Given the description of an element on the screen output the (x, y) to click on. 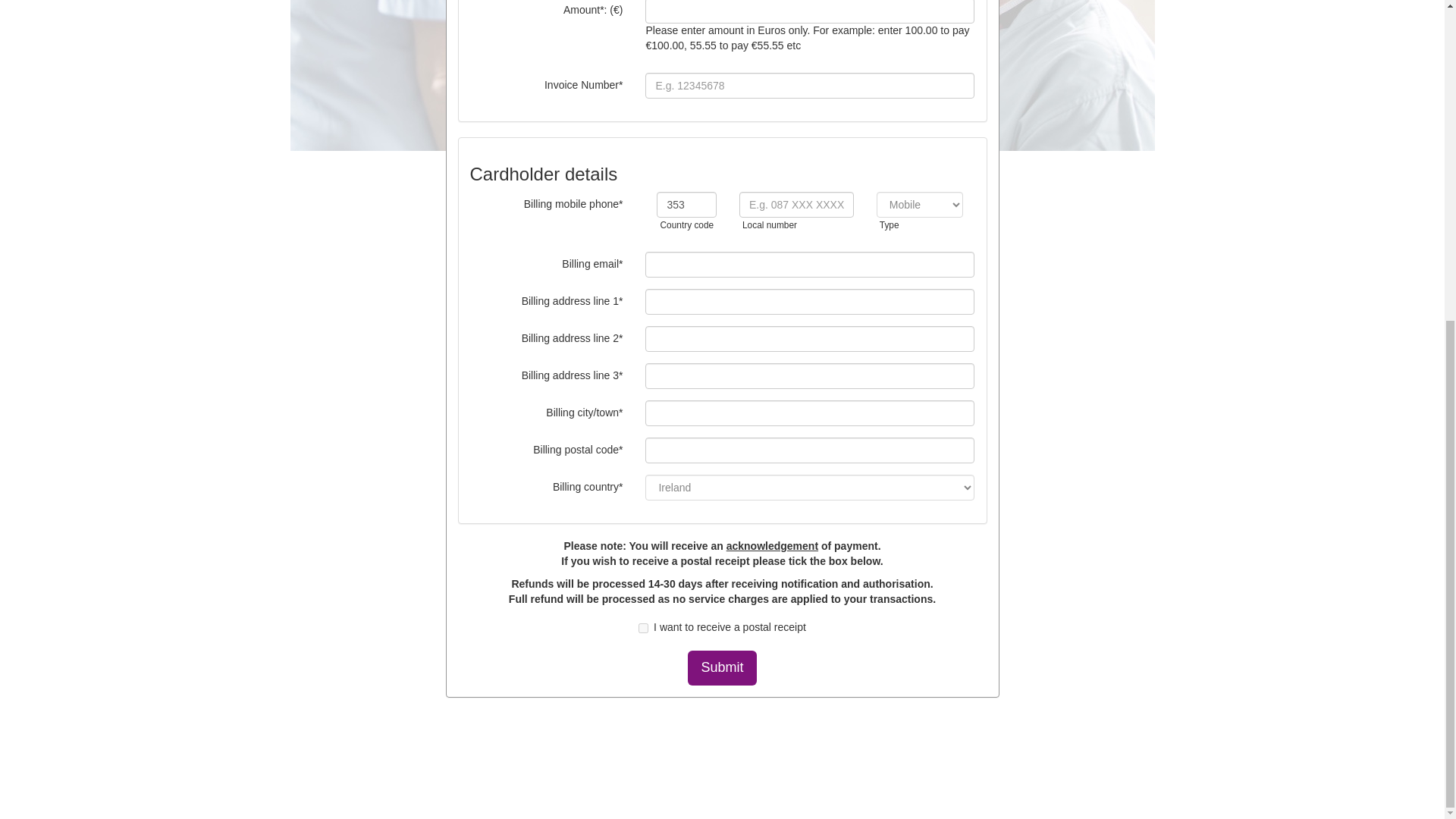
Submit (721, 667)
Yes (643, 628)
353 (686, 204)
Submit (721, 667)
